Given the description of an element on the screen output the (x, y) to click on. 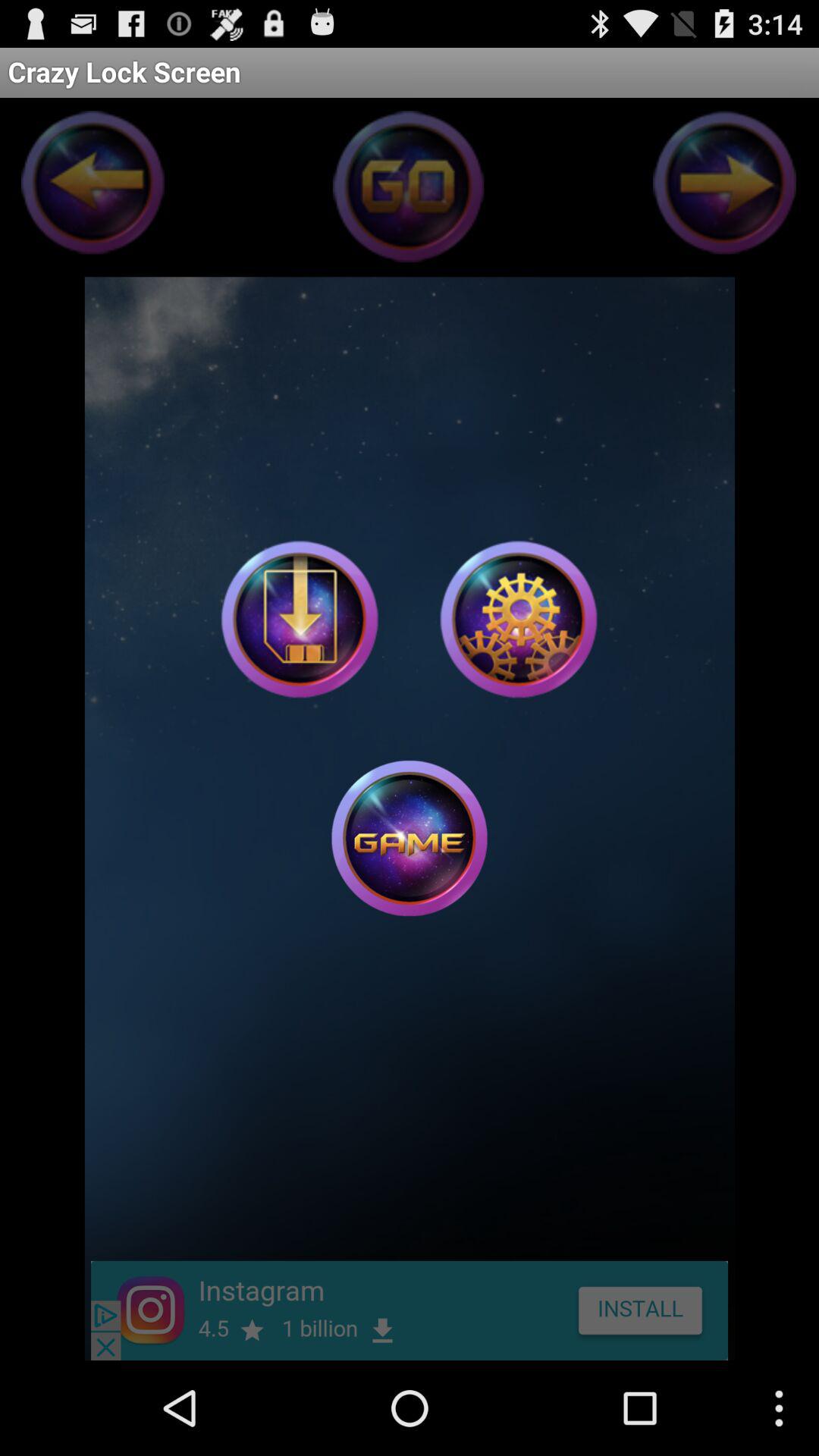
begins game (409, 837)
